Given the description of an element on the screen output the (x, y) to click on. 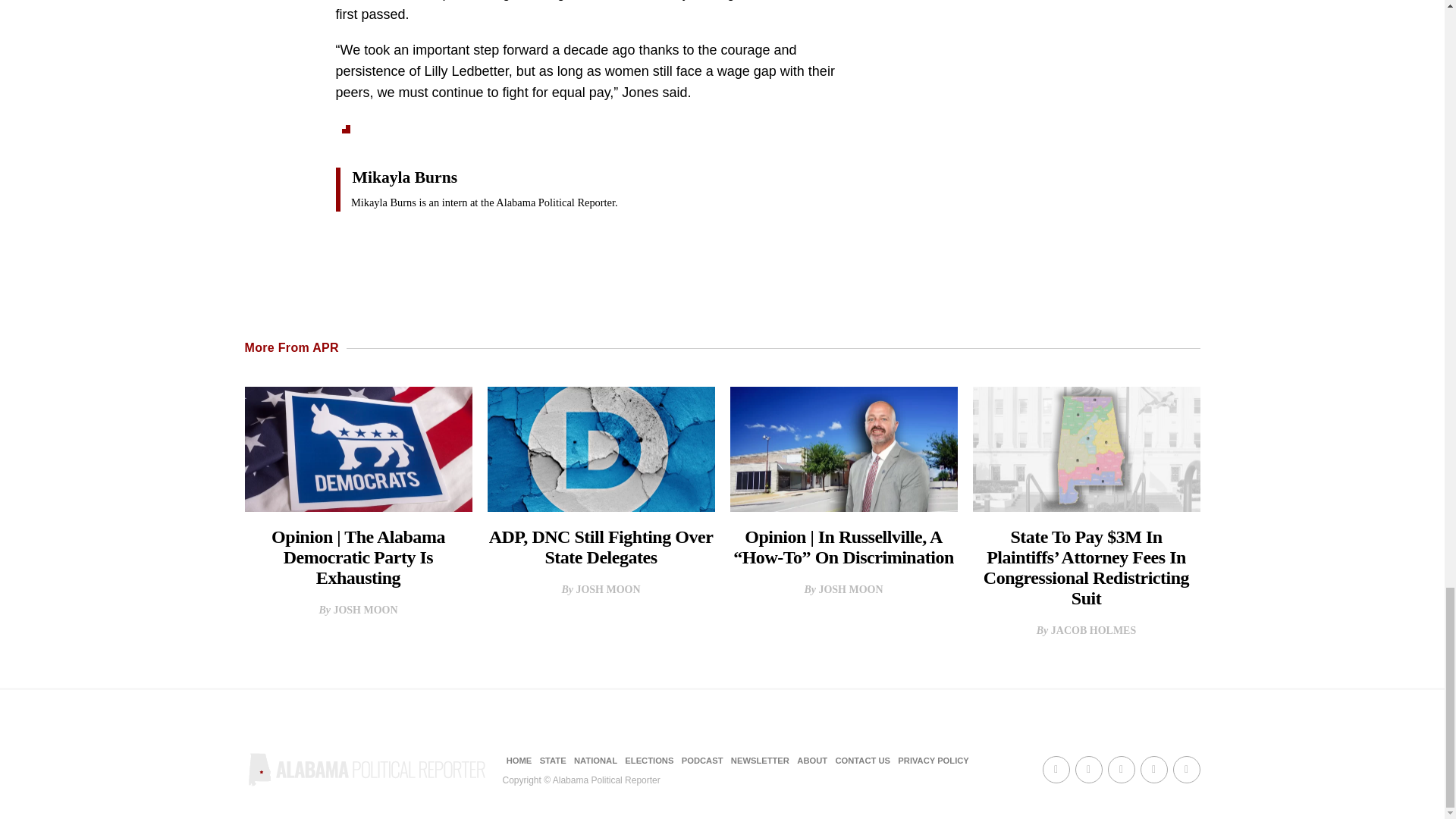
Posts by Josh Moon (850, 589)
Posts by Josh Moon (365, 609)
Posts by Josh Moon (607, 589)
Posts by Jacob Holmes (1093, 630)
